Given the description of an element on the screen output the (x, y) to click on. 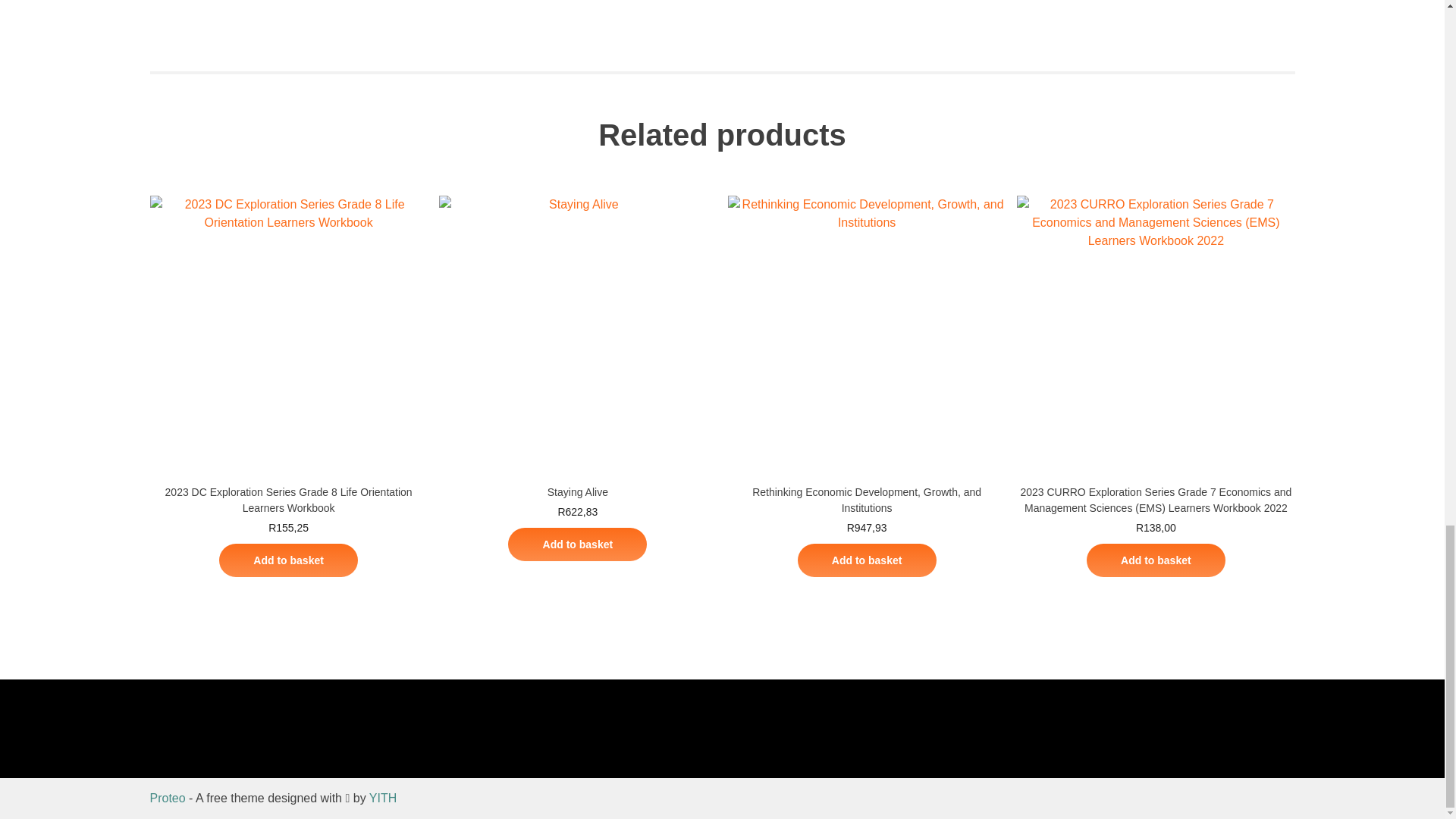
Add to basket (866, 560)
Add to basket (288, 560)
Add to basket (577, 544)
